Given the description of an element on the screen output the (x, y) to click on. 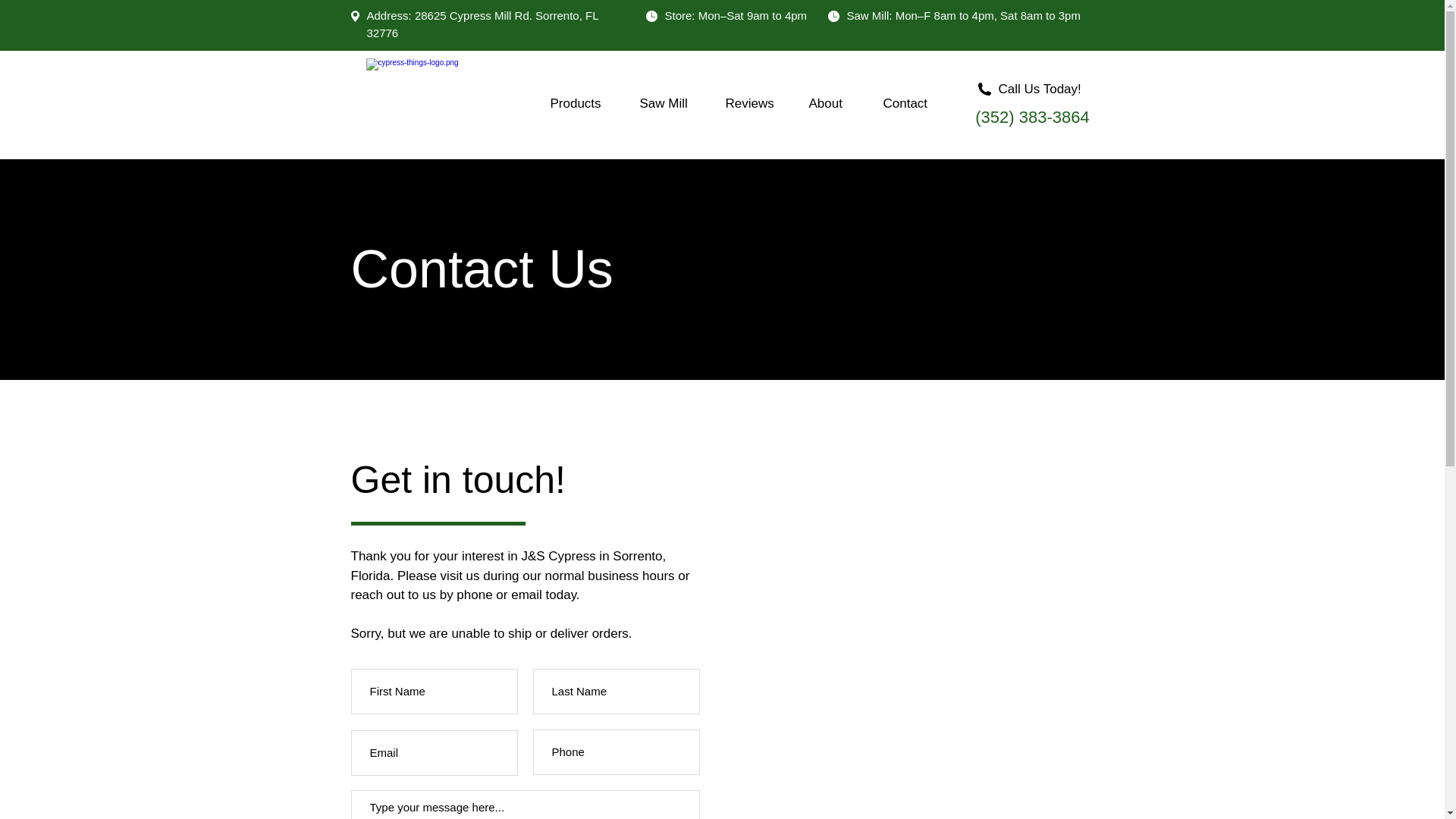
Contact (914, 103)
About (834, 103)
Saw Mill (670, 103)
28625 Cypress Mill Rd. Sorrento, FL 32776 (482, 24)
Reviews (755, 103)
